Given the description of an element on the screen output the (x, y) to click on. 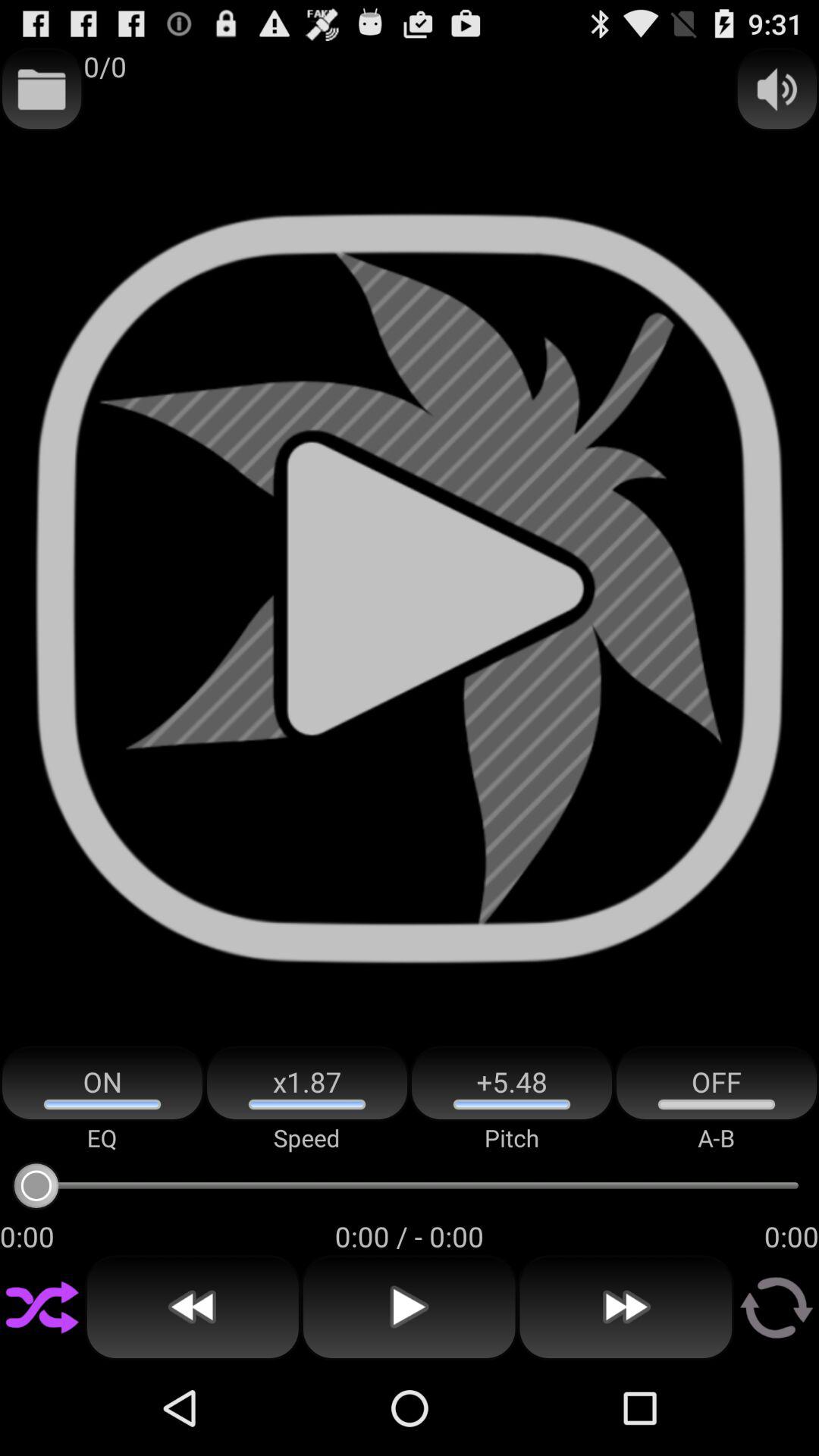
turn on the app to the right of the 0/0 item (777, 89)
